Given the description of an element on the screen output the (x, y) to click on. 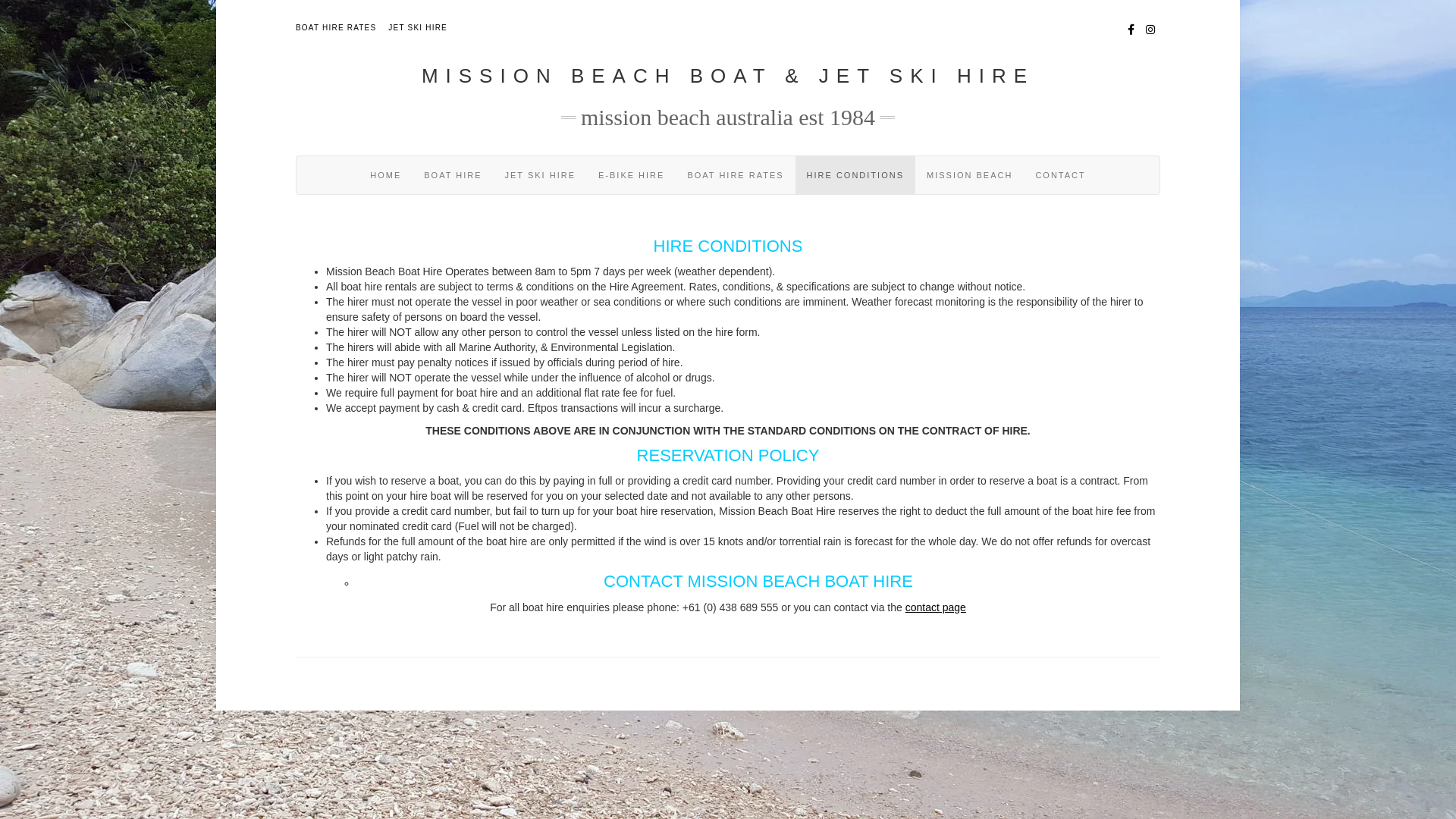
MISSION BEACH BOAT & JET SKI HIRE Element type: text (727, 75)
HOME Element type: text (385, 175)
MISSION BEACH Element type: text (969, 175)
BOAT HIRE Element type: text (452, 175)
CONTACT Element type: text (1059, 175)
BOAT HIRE RATES Element type: text (335, 27)
BOAT HIRE RATES Element type: text (734, 175)
HIRE CONDITIONS Element type: text (855, 175)
INSTAGRAM Element type: text (1150, 27)
JET SKI HIRE Element type: text (539, 175)
contact page Element type: text (935, 607)
E-BIKE HIRE Element type: text (630, 175)
FACEBOOK Element type: text (1131, 27)
JET SKI HIRE Element type: text (417, 27)
